Given the description of an element on the screen output the (x, y) to click on. 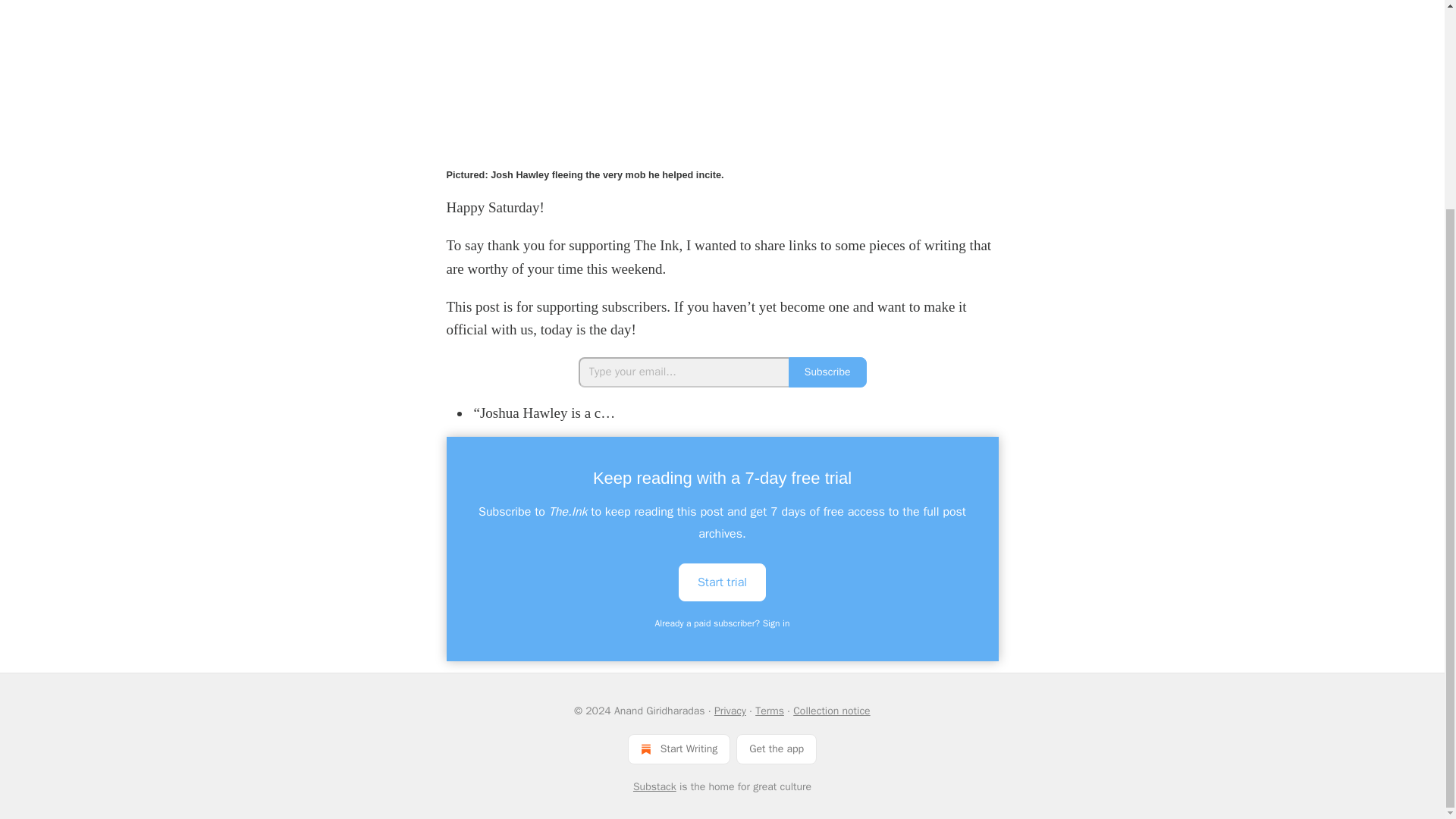
Privacy (729, 710)
Subscribe (827, 372)
Collection notice (831, 710)
Start Writing (678, 748)
Already a paid subscriber? Sign in (722, 623)
Get the app (776, 748)
Terms (769, 710)
Substack (655, 786)
Start trial (721, 581)
Start trial (721, 582)
